Given the description of an element on the screen output the (x, y) to click on. 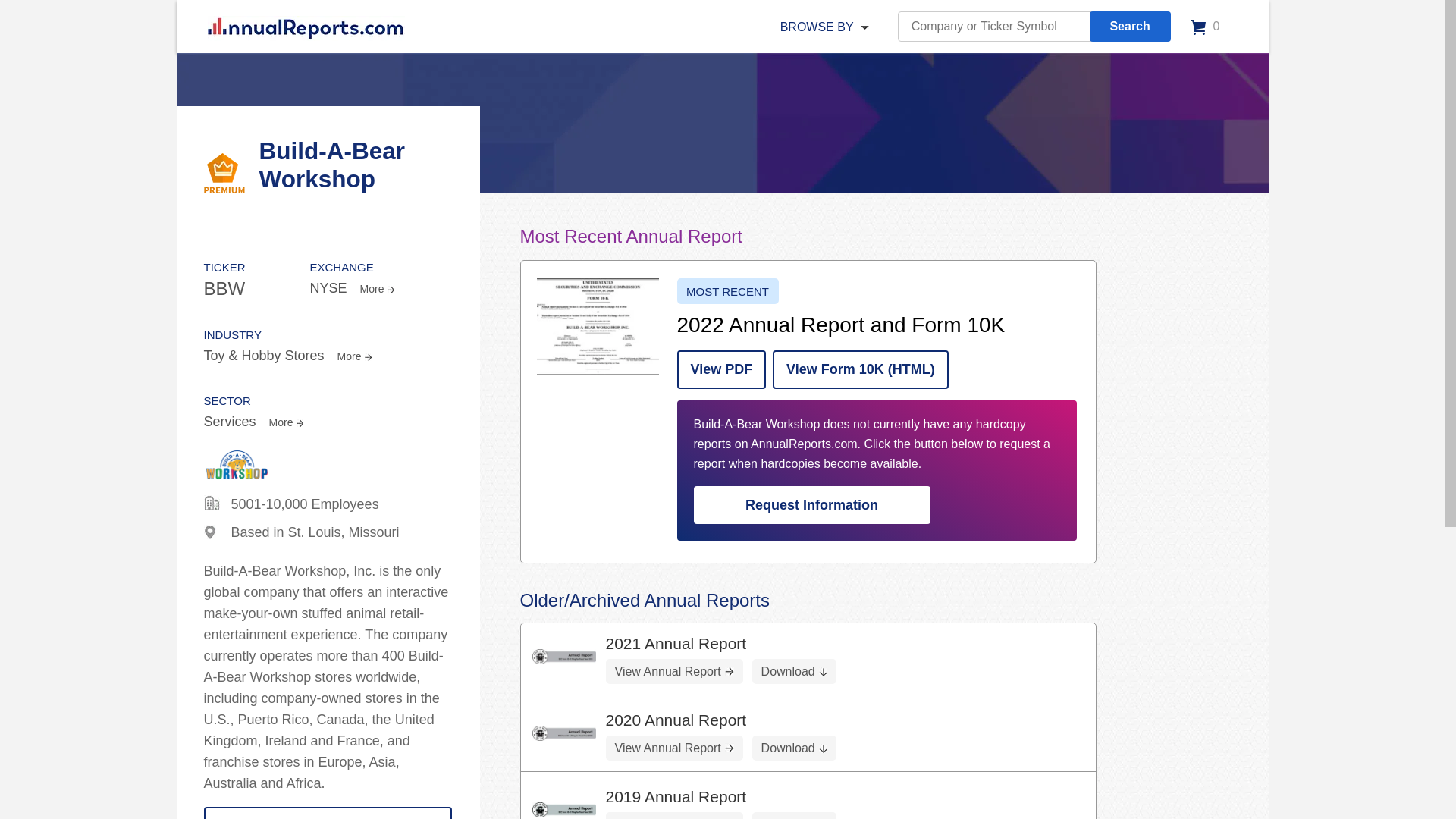
Download (793, 671)
View Annual Report (673, 747)
View PDF (721, 369)
Build-A-Bear Workshop (598, 326)
BROWSE BY (816, 26)
Request Information (811, 505)
More (375, 288)
Build-A-Bear Workshop (563, 656)
Search (1129, 26)
Download (793, 815)
Download (793, 747)
More (285, 422)
Build-A-Bear Workshop (563, 809)
Build-A-Bear Workshop (563, 733)
Search (1129, 26)
